Given the description of an element on the screen output the (x, y) to click on. 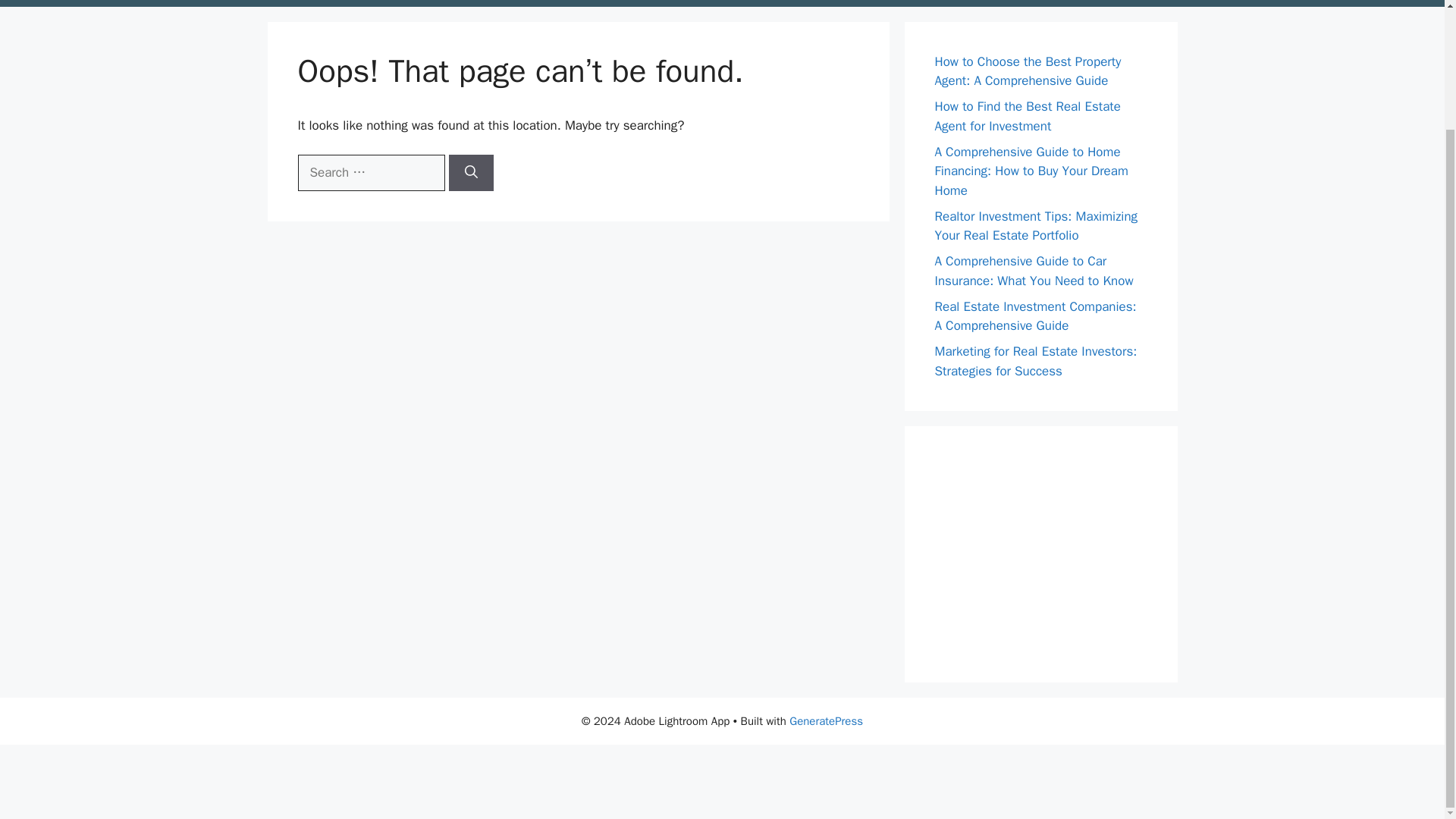
Advertisement (275, 778)
Real Estate Investment Companies: A Comprehensive Guide (1034, 316)
Advertisement (1047, 551)
Search for: (370, 172)
Marketing for Real Estate Investors: Strategies for Success (1035, 361)
How to Find the Best Real Estate Agent for Investment (1026, 116)
GeneratePress (826, 721)
How to Choose the Best Property Agent: A Comprehensive Guide (1027, 71)
